Given the description of an element on the screen output the (x, y) to click on. 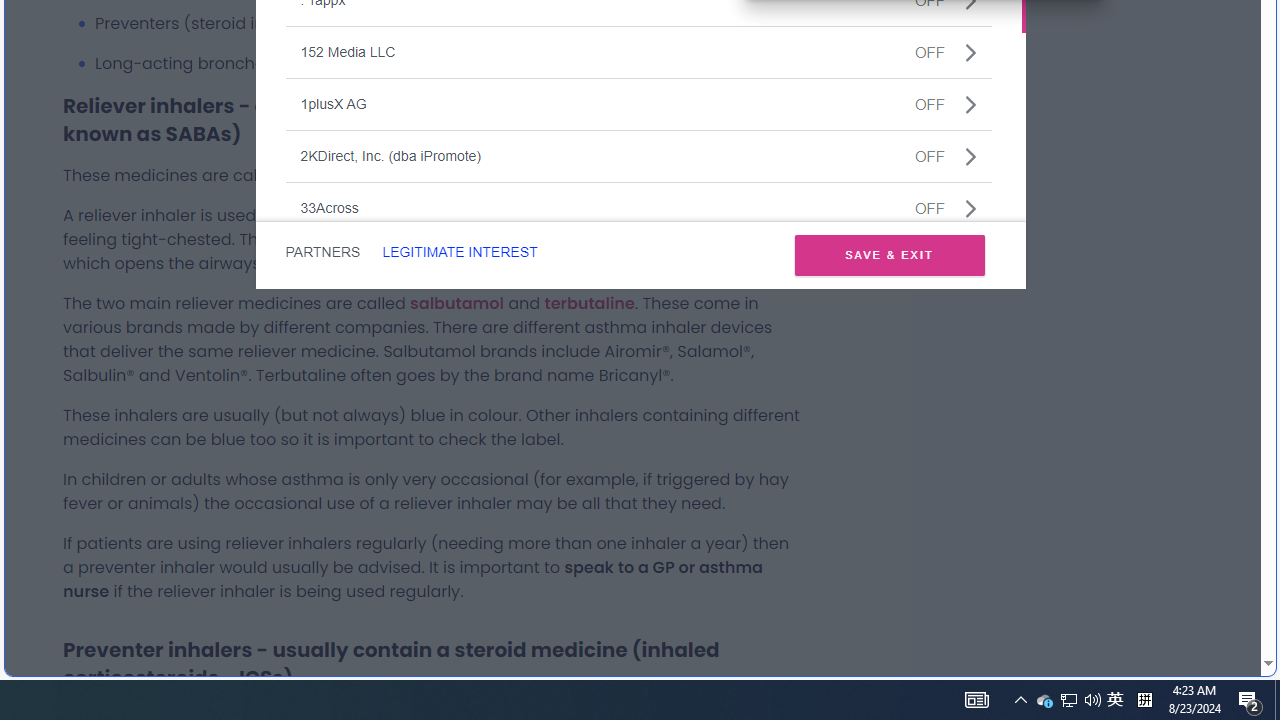
1plusX AGOFF (638, 103)
Long-acting bronchodilators. (448, 63)
SAVE & EXIT (889, 254)
Class: css-jswnc6 (969, 208)
